Given the description of an element on the screen output the (x, y) to click on. 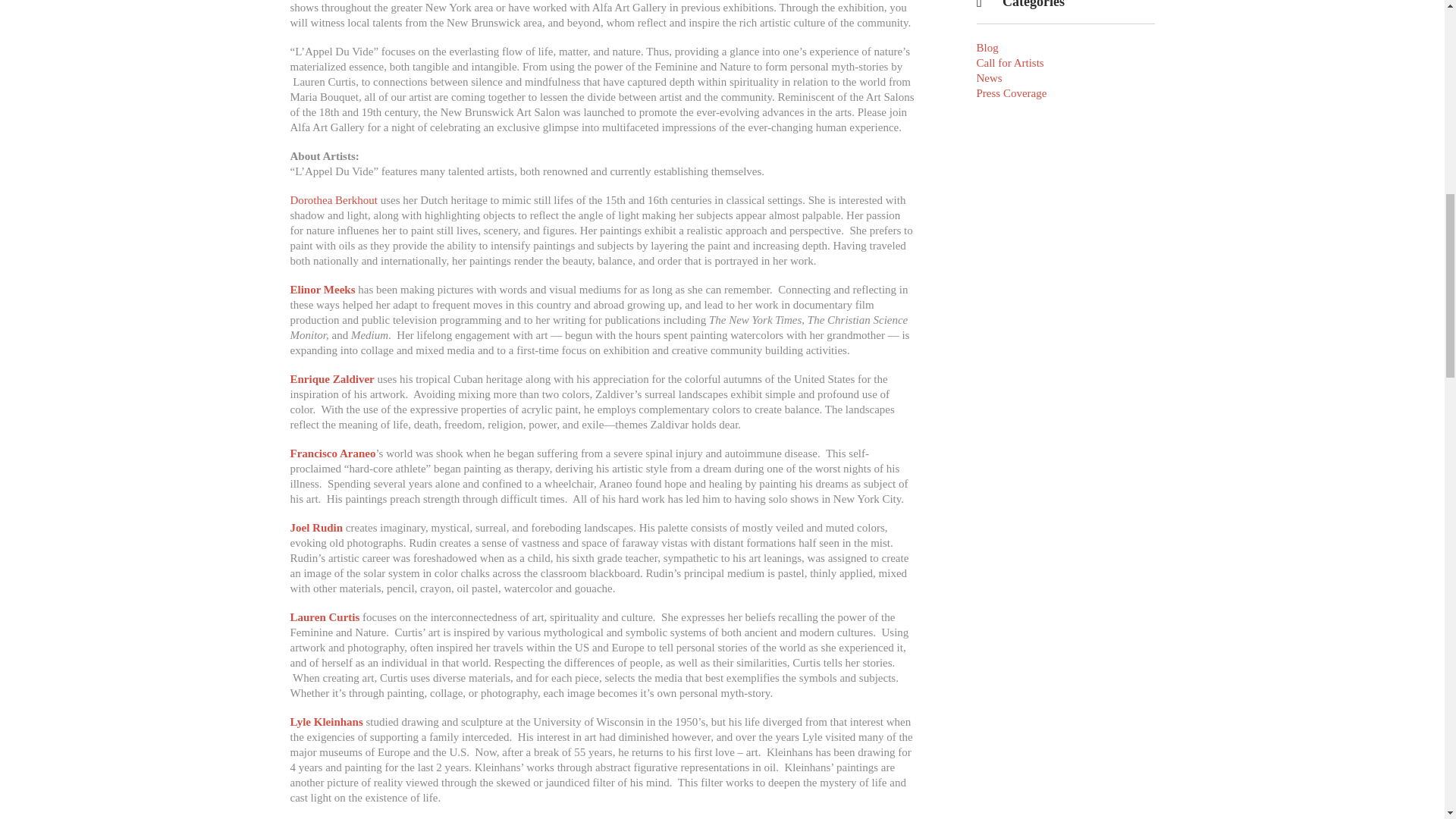
Dorothea Berkhout (333, 200)
Enrique Zaldiver (331, 378)
All blog posts go in this category. (987, 47)
Francisco Araneo (332, 453)
Elinor Meeks (322, 289)
